Given the description of an element on the screen output the (x, y) to click on. 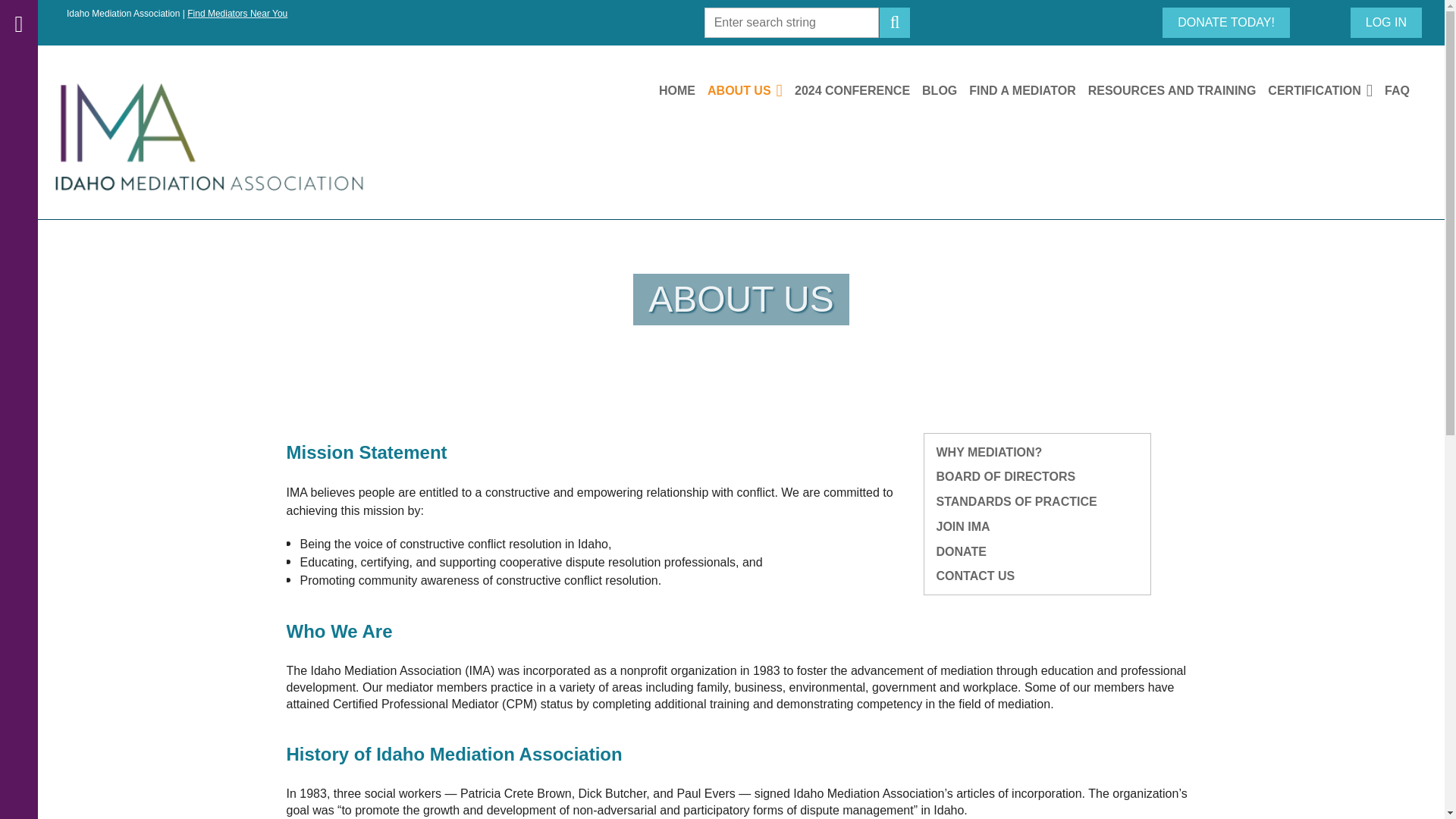
Find Mediators Near You (236, 13)
ABOUT US (750, 90)
HOME (683, 90)
LOG IN (1386, 22)
DONATE TODAY! (1225, 22)
Search (894, 22)
